Given the description of an element on the screen output the (x, y) to click on. 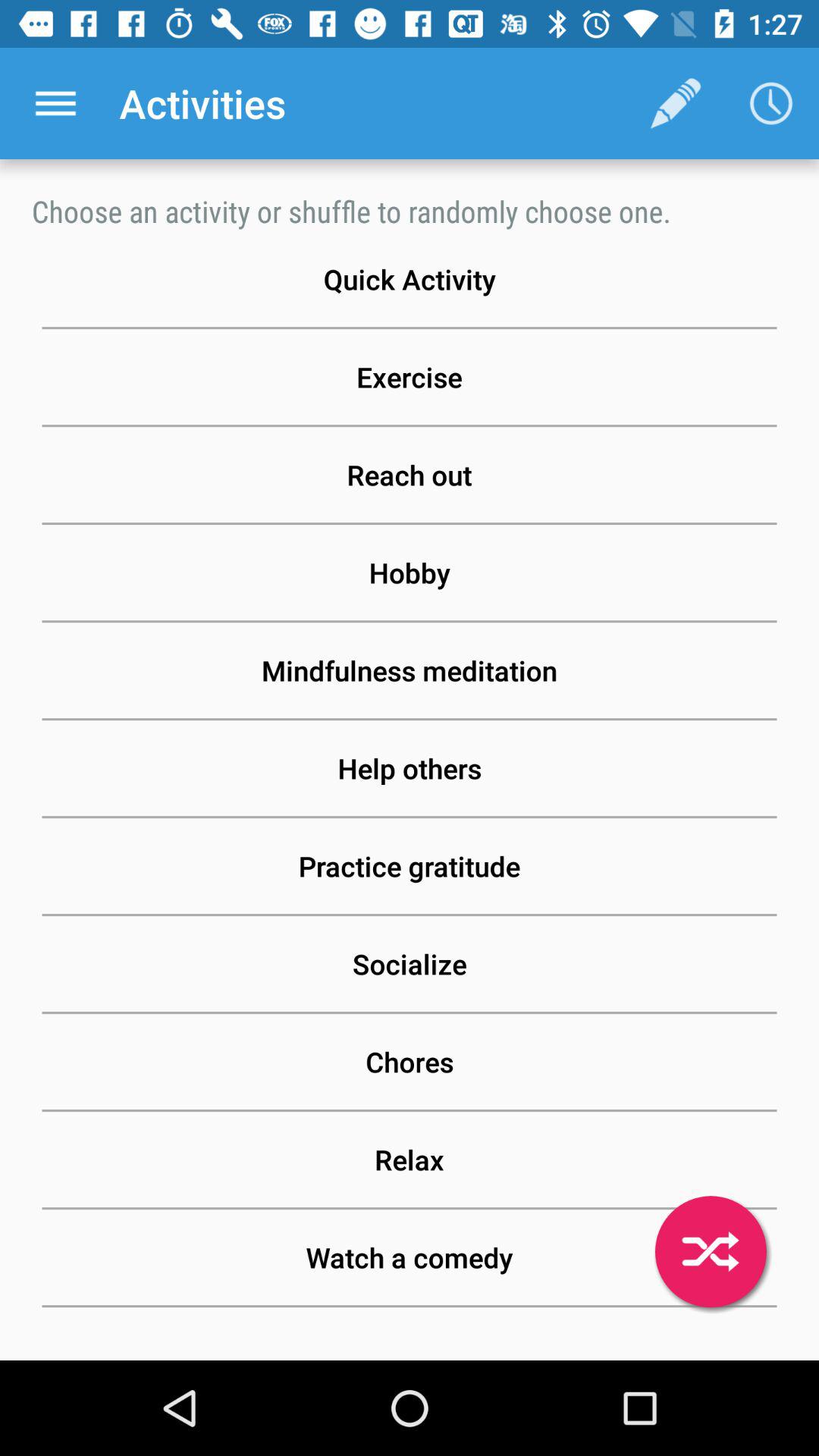
click the watch a comedy button (409, 1257)
